Given the description of an element on the screen output the (x, y) to click on. 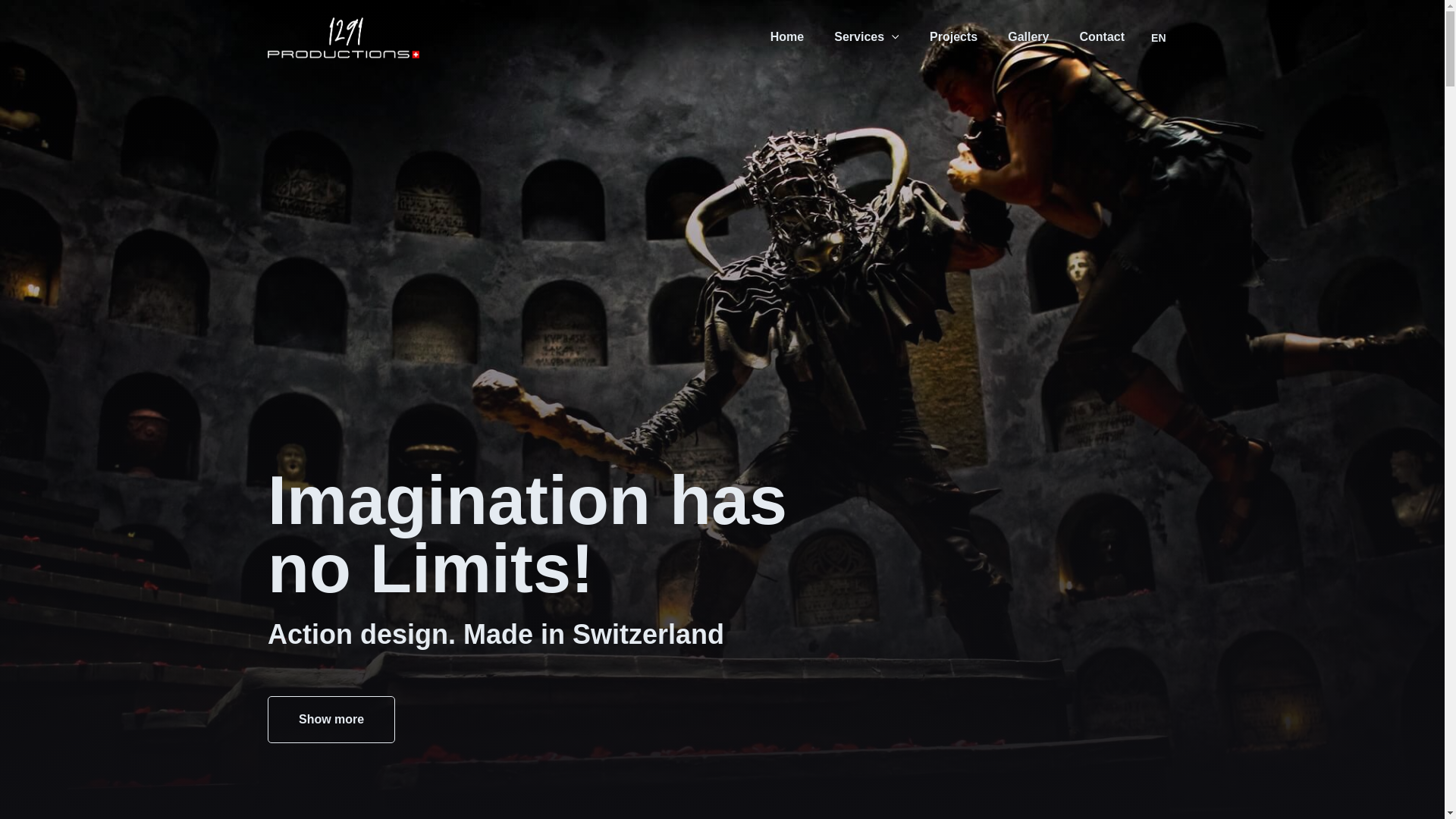
EN Element type: text (1158, 37)
Show more Element type: text (330, 719)
Contact Element type: text (1101, 37)
Home Element type: text (787, 37)
Projects Element type: text (953, 37)
Gallery Element type: text (1027, 37)
